Given the description of an element on the screen output the (x, y) to click on. 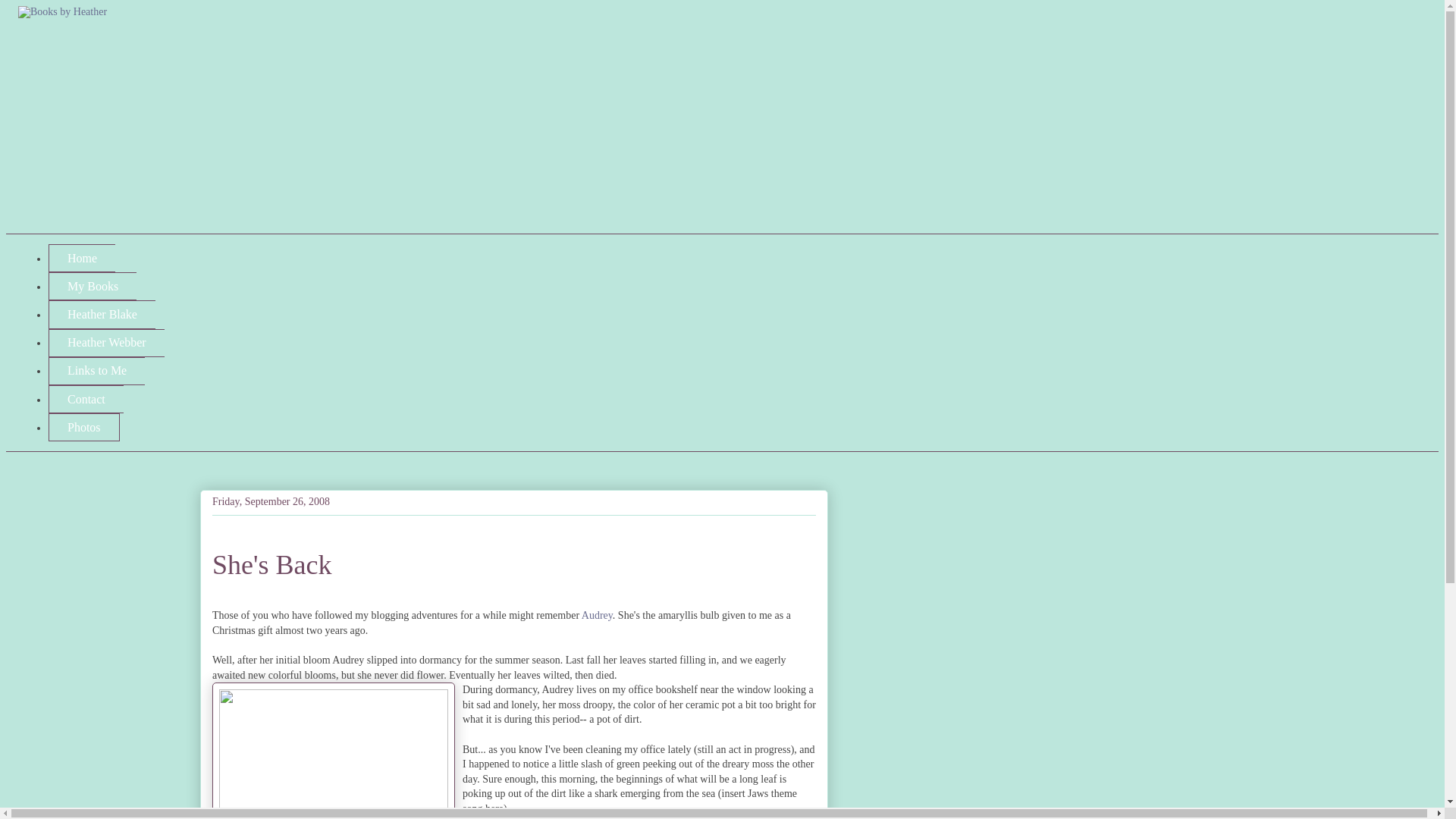
Contact (85, 398)
My Books (92, 285)
Heather Webber (106, 343)
Heather Blake (101, 314)
Home (81, 257)
Photos (83, 427)
Links to Me (96, 370)
Audrey (596, 614)
